Given the description of an element on the screen output the (x, y) to click on. 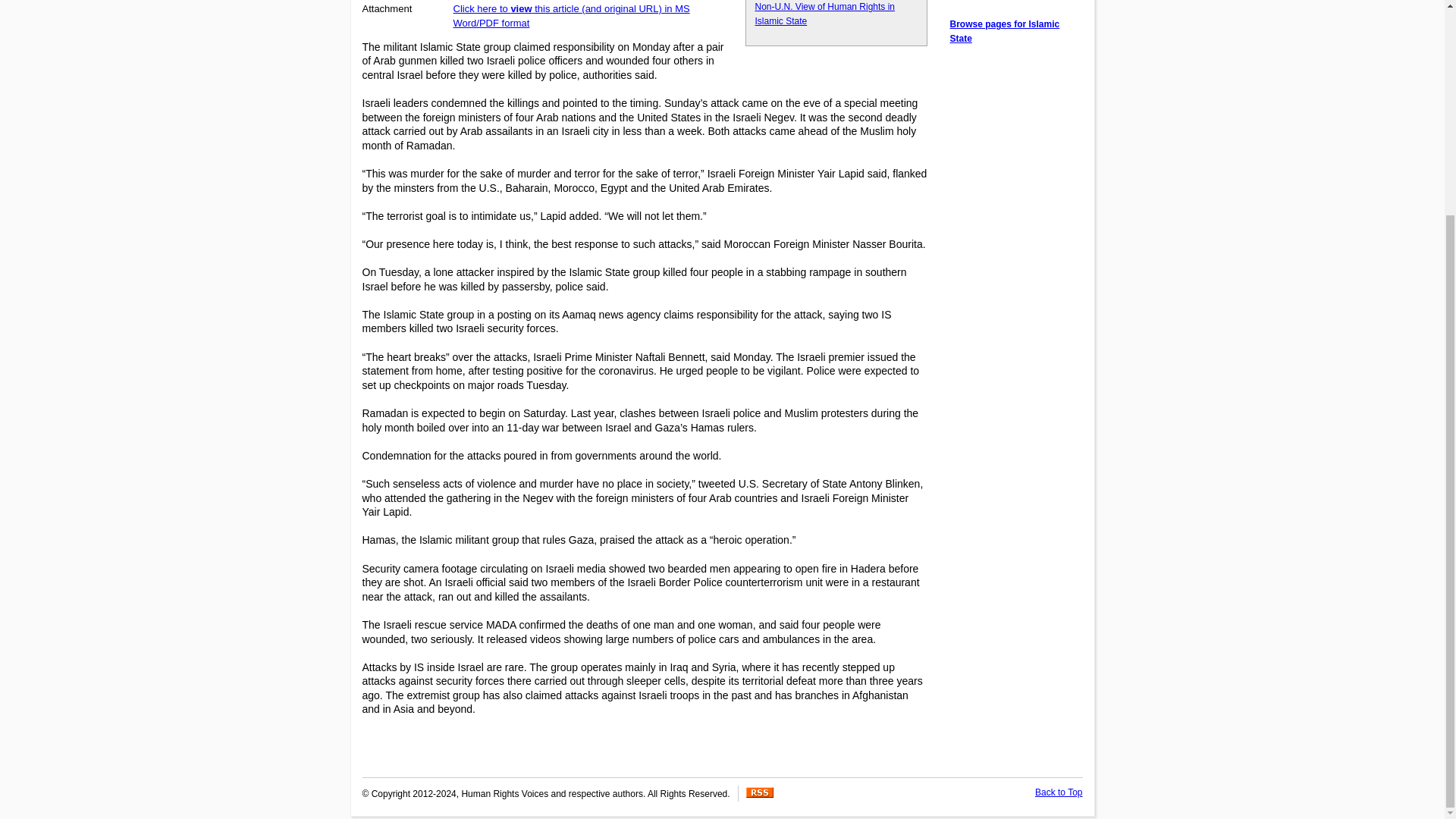
Non-U.N. View of Human Rights in Islamic State (825, 13)
Click here for the Human Rights Voices RSS feed (759, 794)
